Given the description of an element on the screen output the (x, y) to click on. 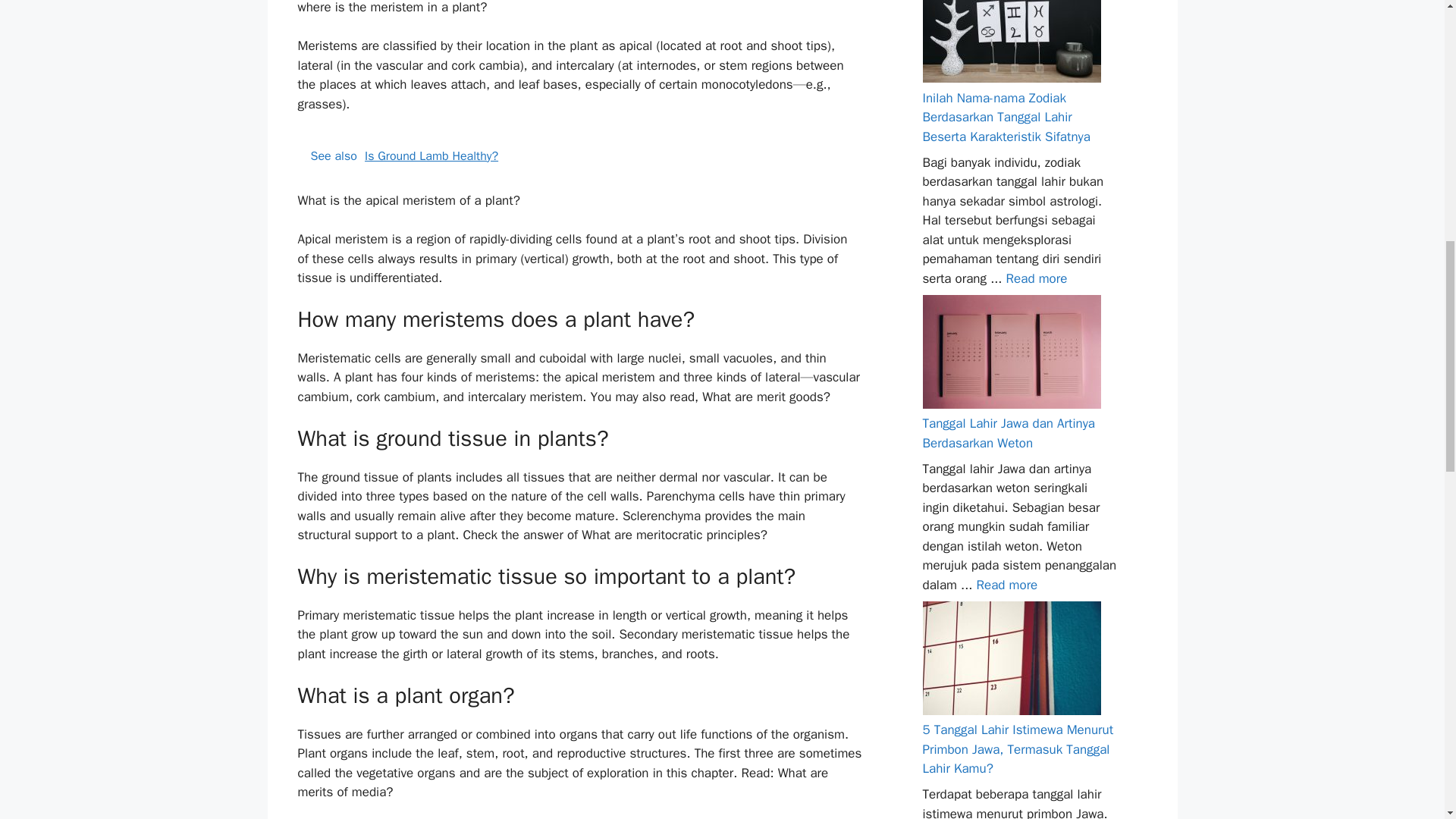
Tanggal Lahir Jawa dan Artinya Berdasarkan Weton (1005, 584)
See also  Is Ground Lamb Healthy? (579, 156)
